Given the description of an element on the screen output the (x, y) to click on. 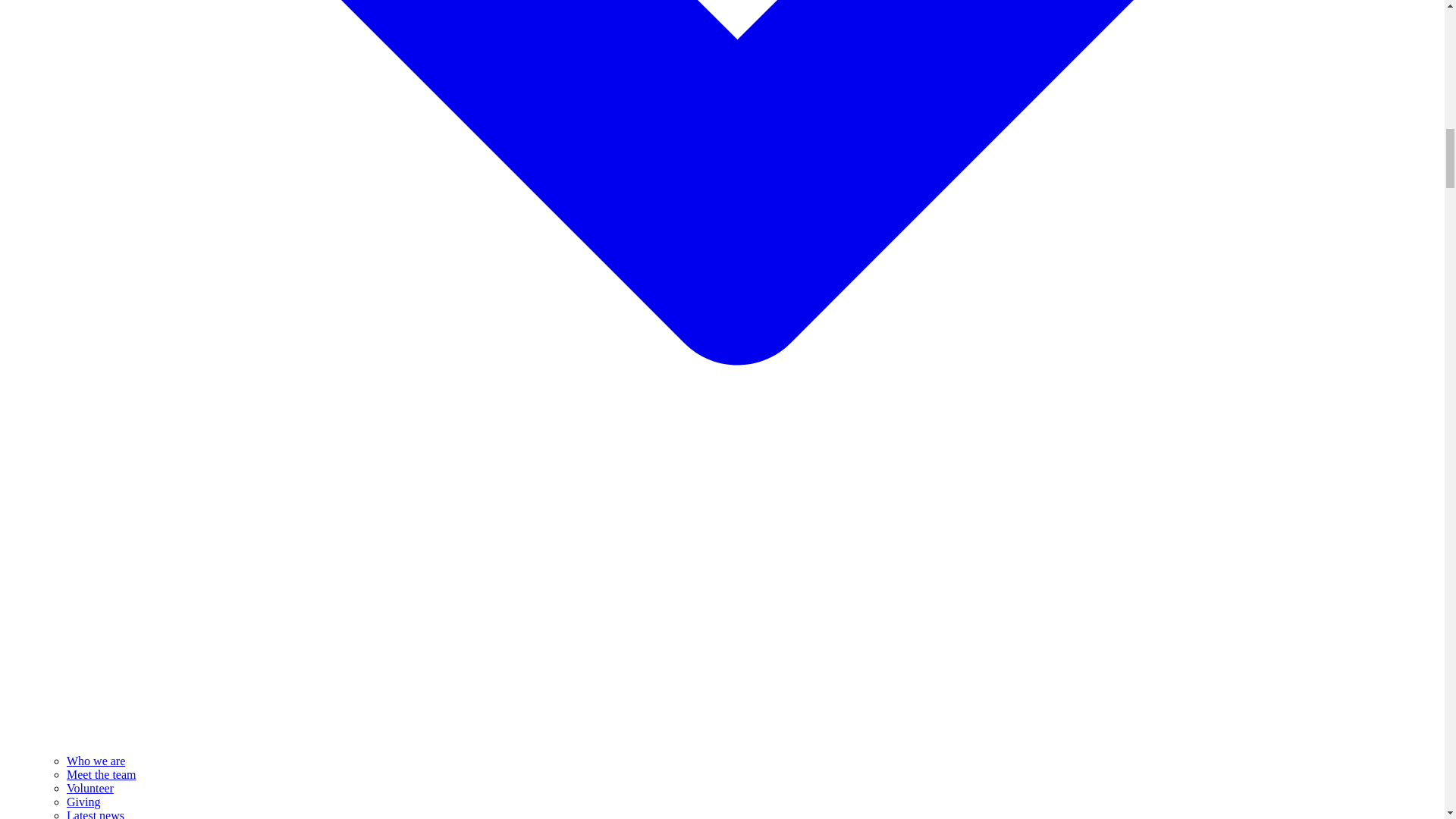
Who we are (95, 760)
Giving (83, 801)
Volunteer (89, 788)
Latest news (94, 814)
Meet the team (101, 774)
Giving (83, 801)
Latest news (94, 814)
Volunteer (89, 788)
Meet the team (101, 774)
Who we are (95, 760)
